Given the description of an element on the screen output the (x, y) to click on. 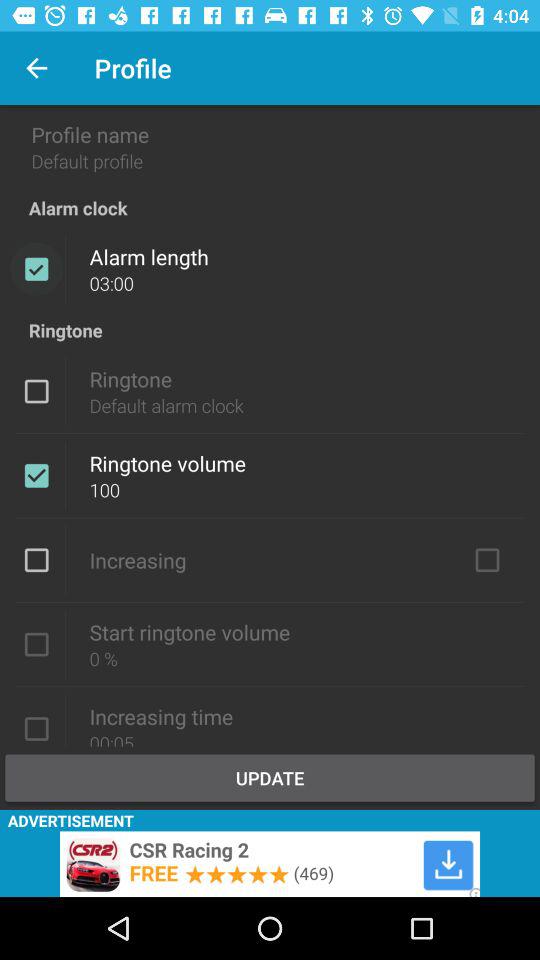
toggle ringtone volume (36, 475)
